Given the description of an element on the screen output the (x, y) to click on. 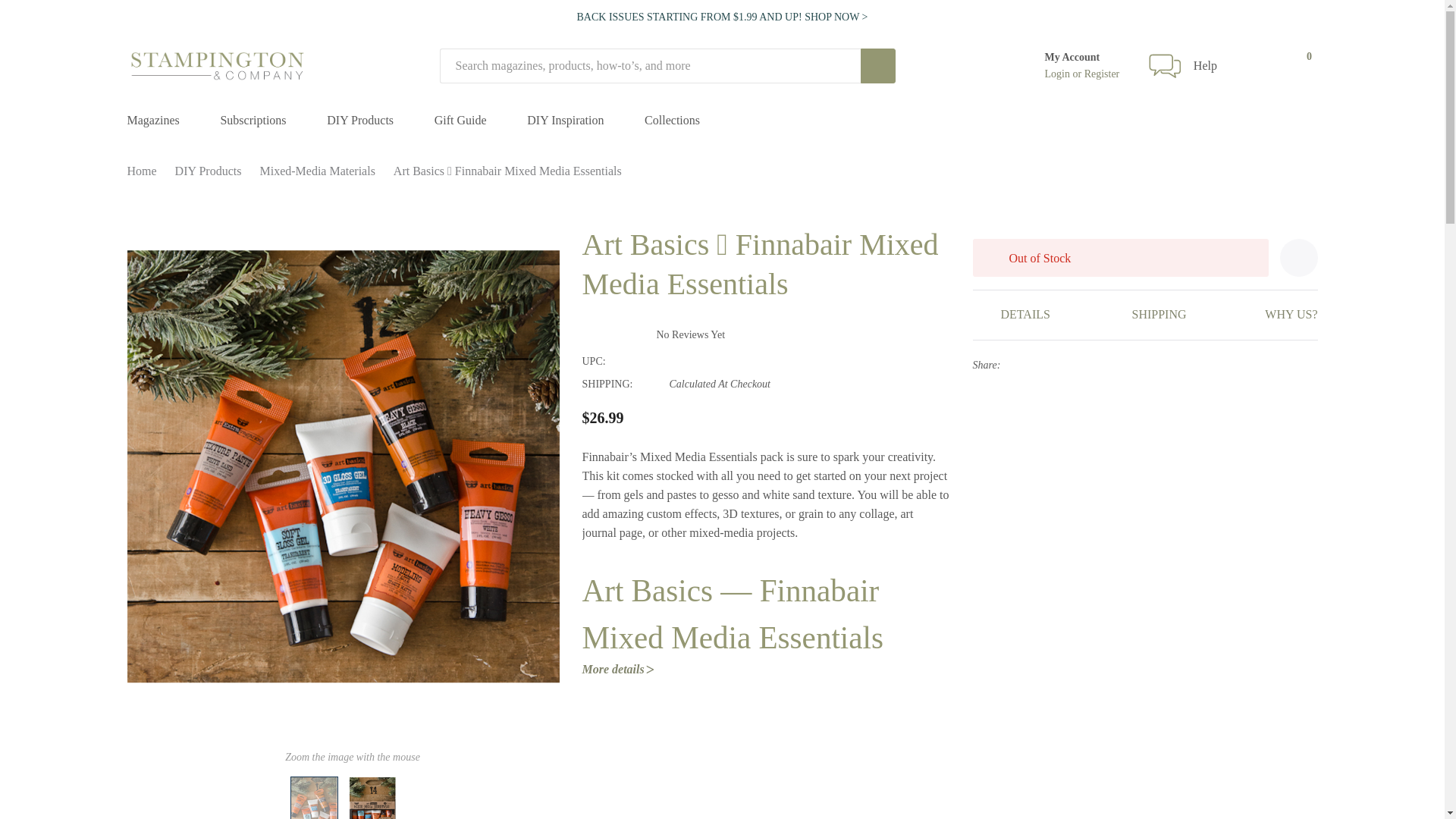
Help (1205, 65)
Login (1059, 74)
0 (1295, 65)
Open Pinterest in a new popup (1101, 365)
Subscriptions (252, 120)
Register (1101, 74)
Open Facebook in a new popup (1013, 365)
Open Email in a new tab (1035, 365)
Open Twitter in a new popup (1079, 365)
Magazines (153, 120)
